Given the description of an element on the screen output the (x, y) to click on. 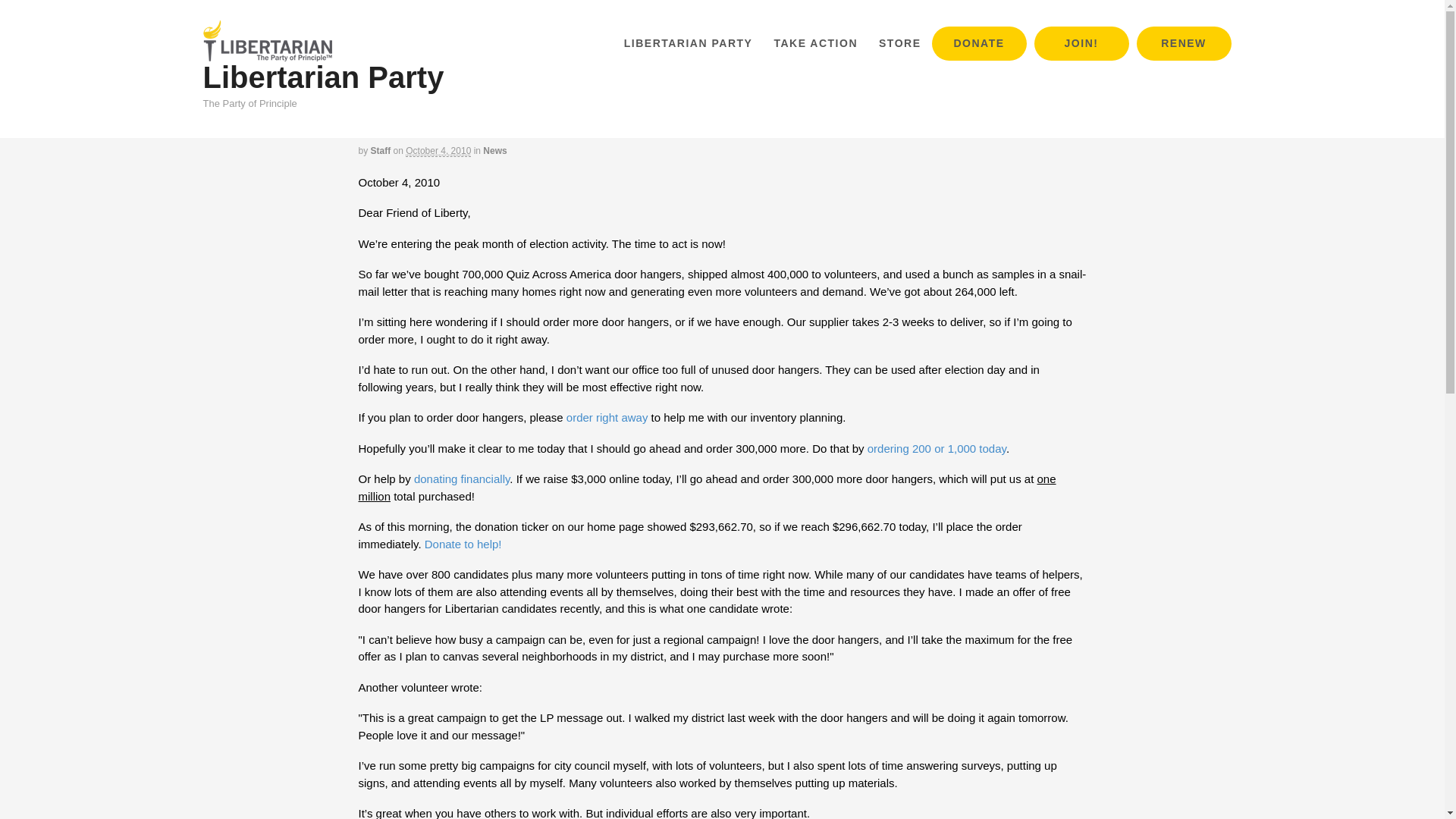
The Party of Principle (267, 53)
STORE (899, 43)
LIBERTARIAN PARTY (687, 43)
2010-10-04T16:17:32-0400 (438, 151)
TAKE ACTION (814, 43)
View all items in News (494, 150)
Libertarian Party (323, 77)
Posts by Staff (381, 150)
JOIN! (1081, 43)
DONATE (978, 43)
